Given the description of an element on the screen output the (x, y) to click on. 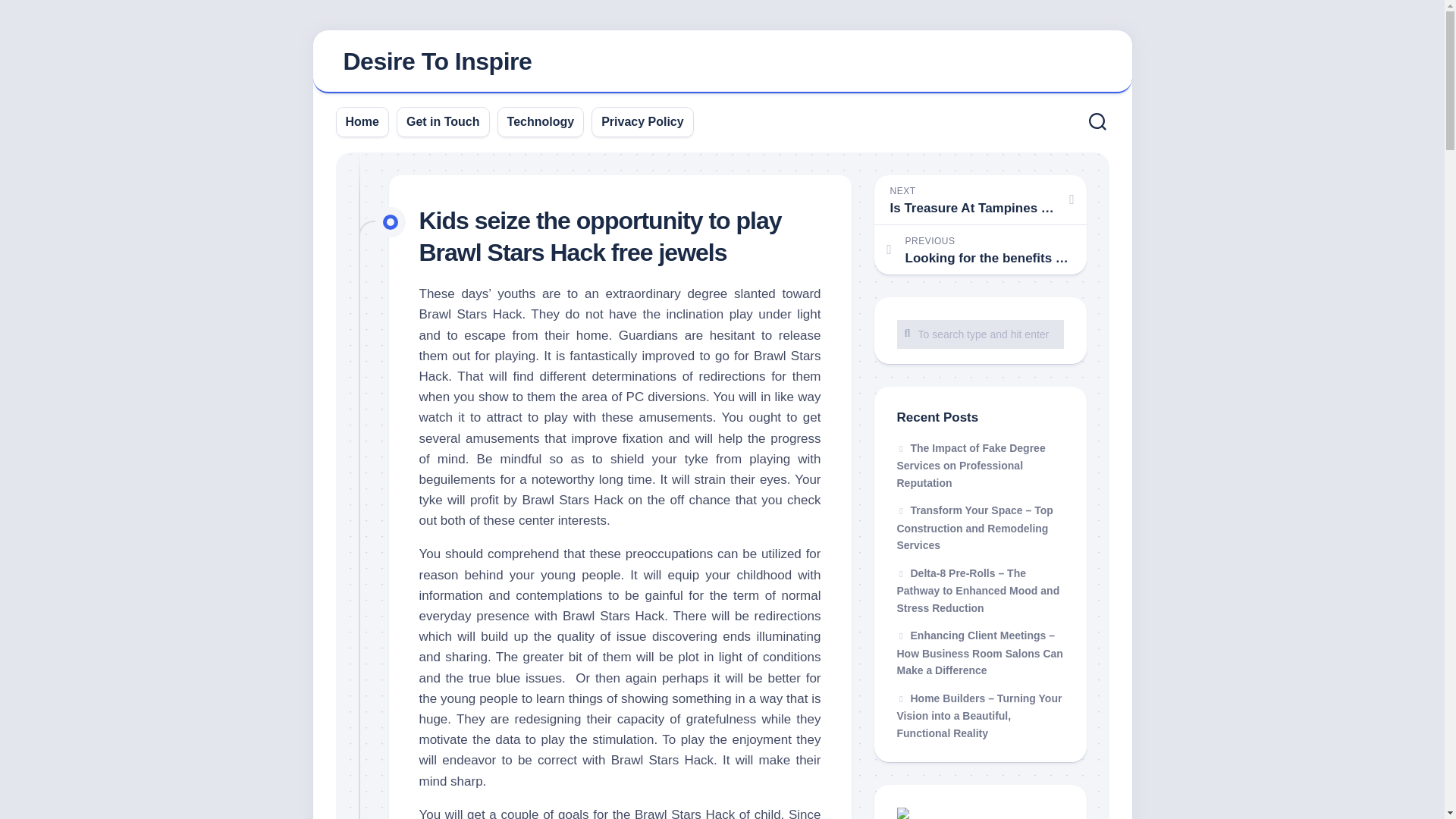
To search type and hit enter (979, 334)
Home (362, 121)
Get in Touch (443, 121)
Privacy Policy (642, 121)
Desire To Inspire (436, 61)
To search type and hit enter (979, 334)
Technology (540, 121)
Desire To Inspire (722, 62)
